Given the description of an element on the screen output the (x, y) to click on. 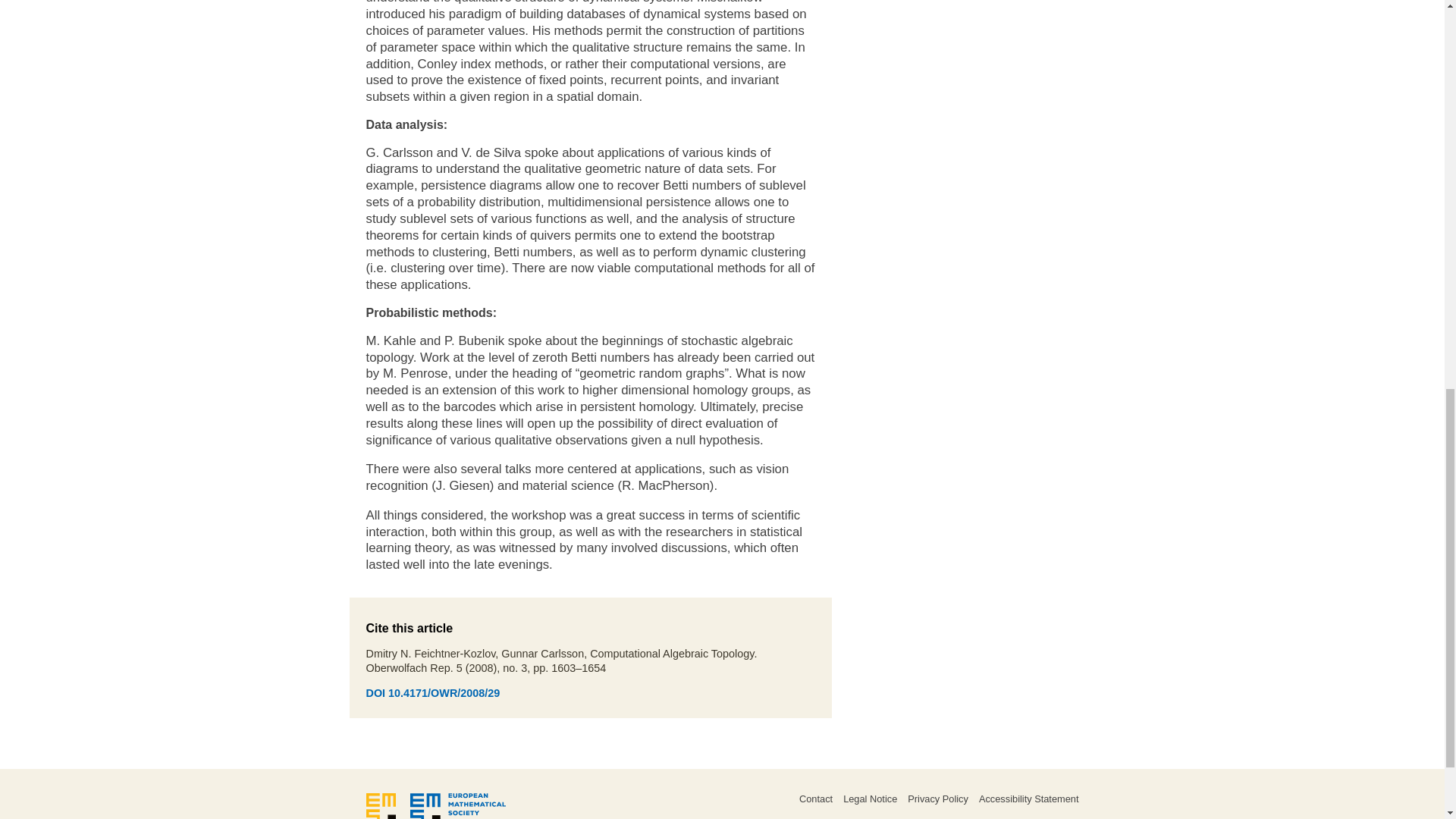
Legal Notice (869, 798)
Accessibility Statement (1028, 798)
Contact (815, 798)
Footer Navigation (889, 806)
Privacy Policy (937, 798)
